Given the description of an element on the screen output the (x, y) to click on. 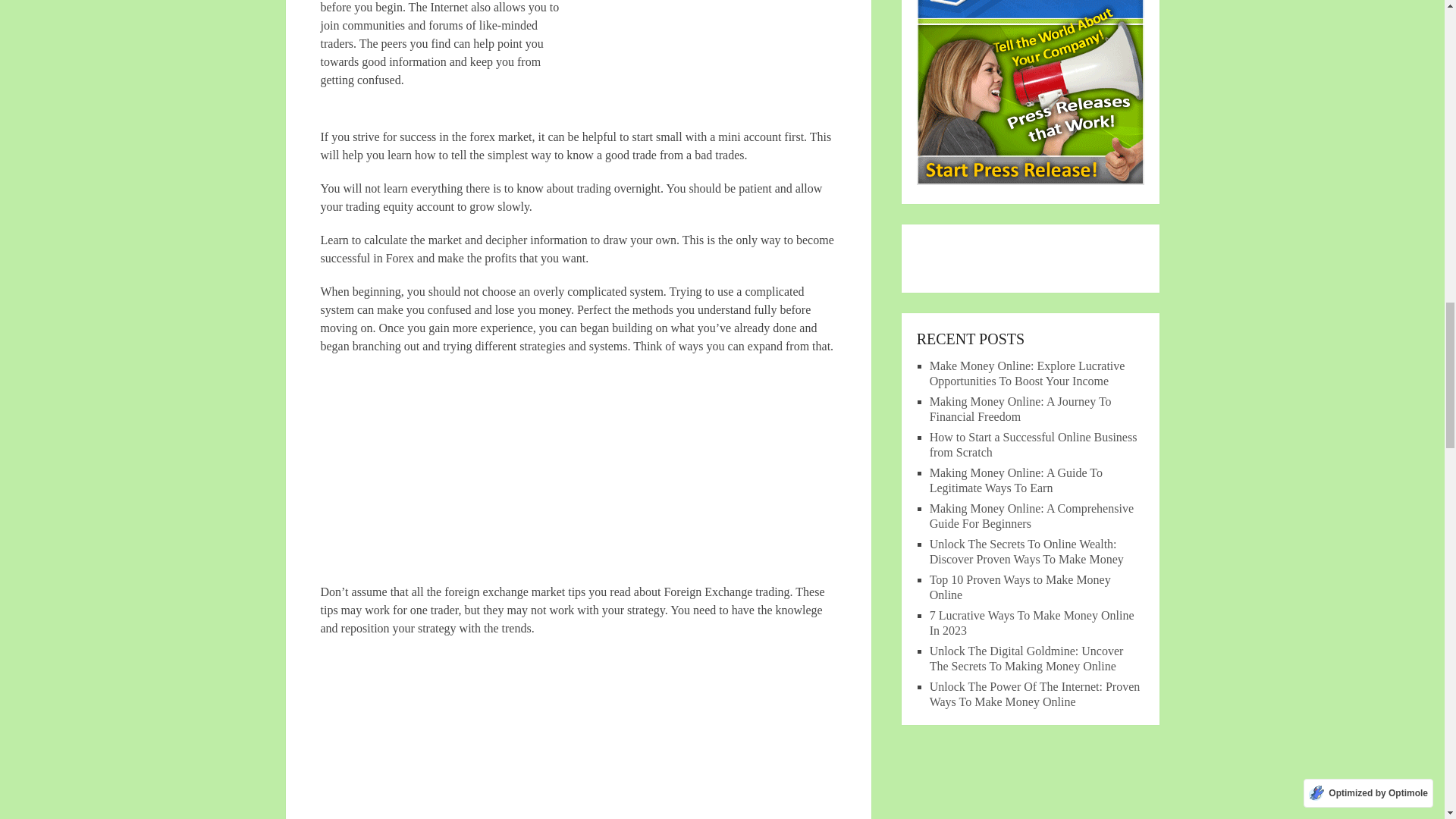
7 Lucrative Ways To Make Money Online In 2023 (1032, 623)
Making Money Online: A Comprehensive Guide For Beginners (1032, 515)
Making Money Online: A Journey To Financial Freedom (1021, 408)
How to Start a Successful Online Business from Scratch (1033, 444)
Top 10 Proven Ways to Make Money Online (1020, 587)
